Given the description of an element on the screen output the (x, y) to click on. 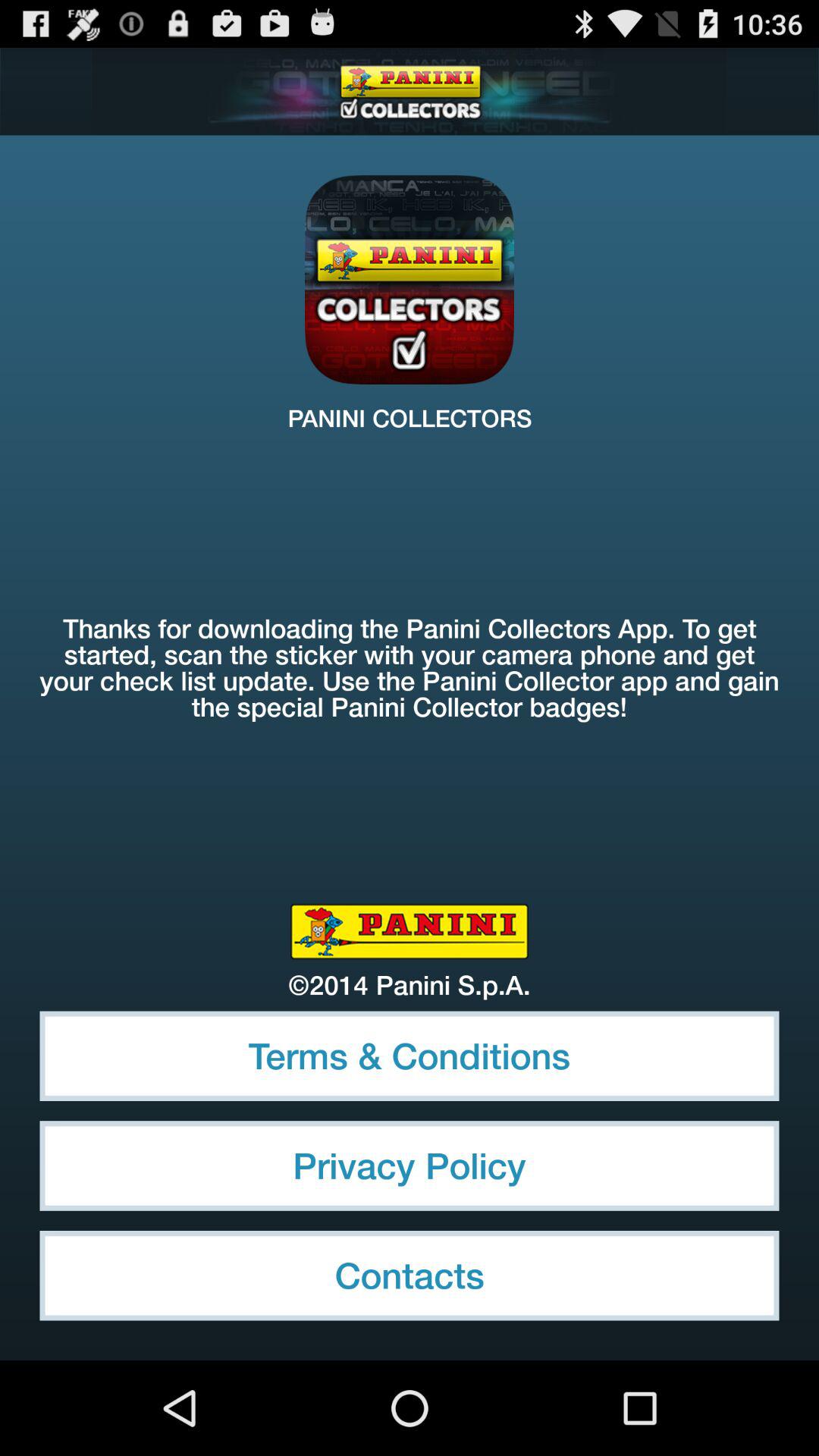
launch item above the privacy policy icon (409, 1056)
